Given the description of an element on the screen output the (x, y) to click on. 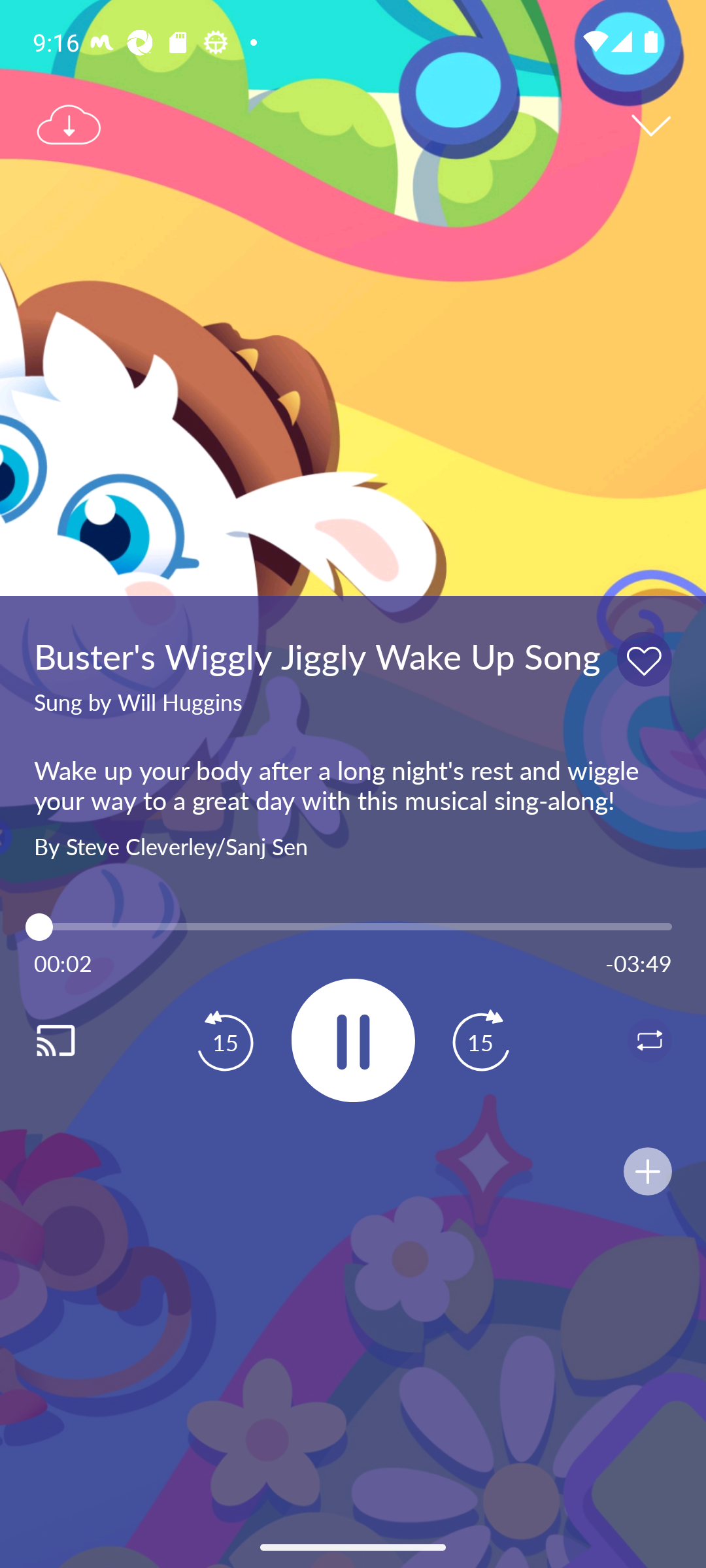
2.0 (352, 926)
Cast. Disconnected (76, 1040)
